Given the description of an element on the screen output the (x, y) to click on. 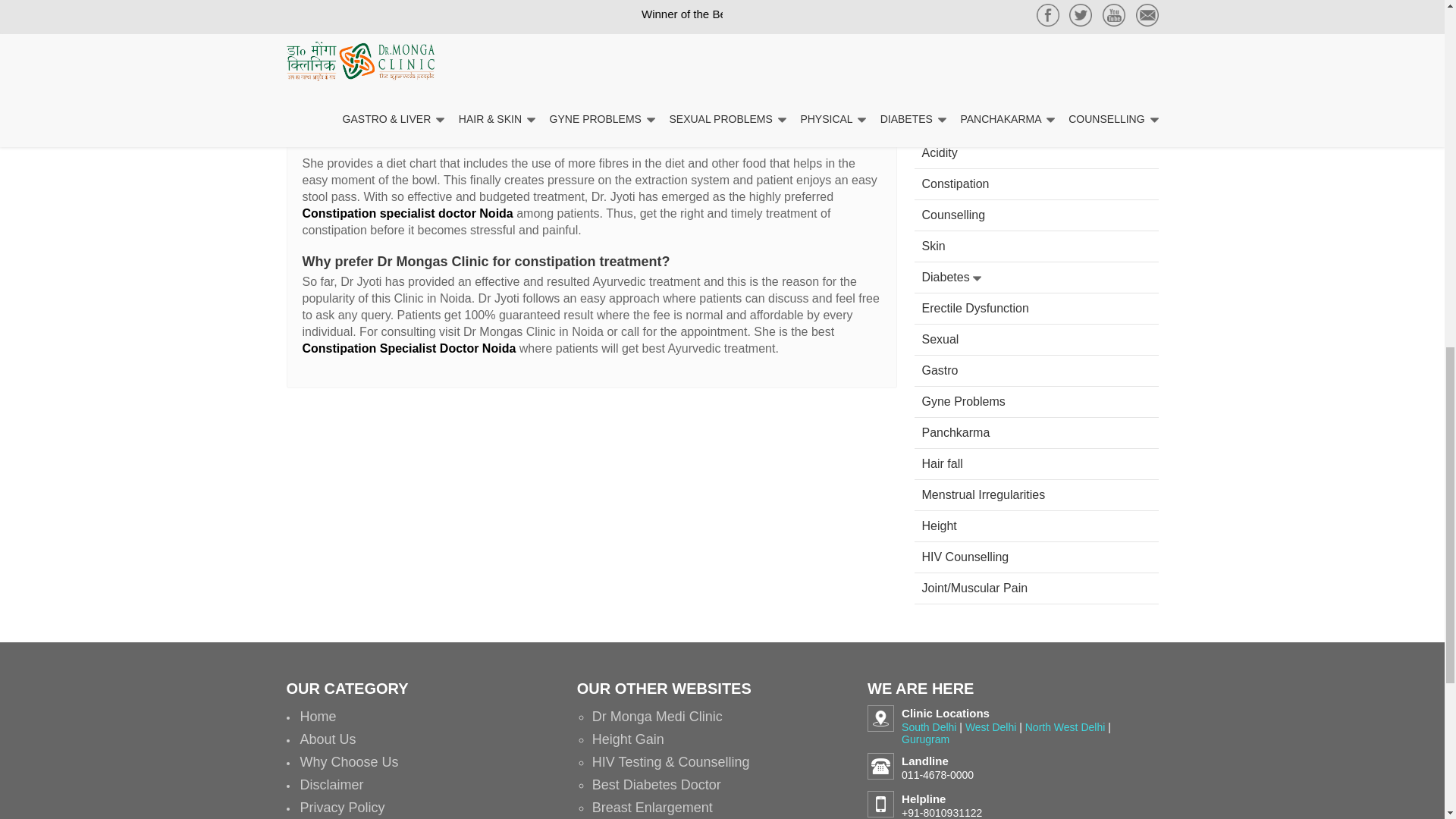
Submit (1035, 63)
